Given the description of an element on the screen output the (x, y) to click on. 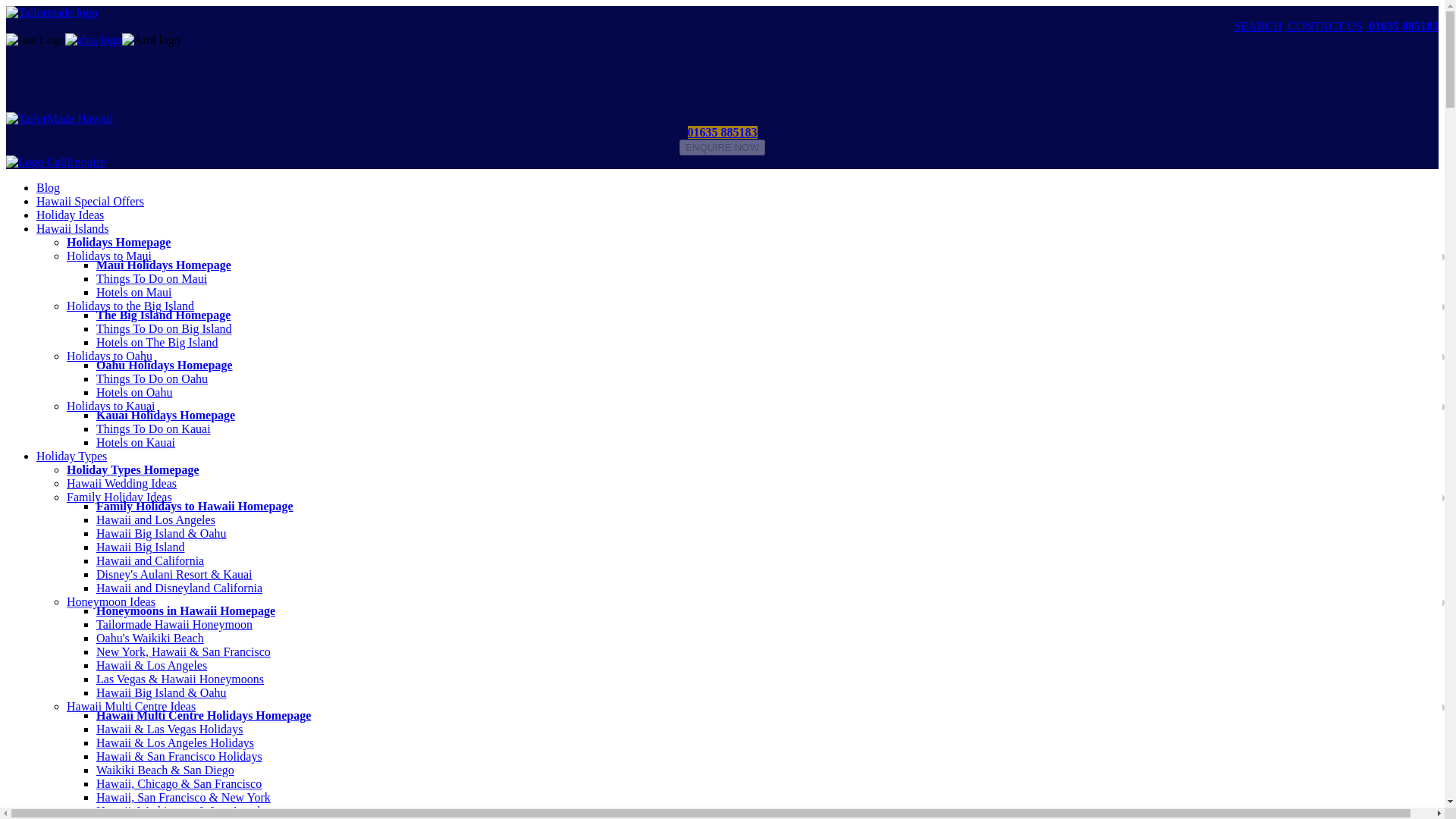
Contact Us (1323, 25)
Make an enquiry (722, 147)
Abta logo (93, 39)
TailorMade Hawaii (59, 119)
CONTACT US (1323, 25)
TailorMade Hawaii (51, 12)
SEARCH (1257, 25)
Atol logo (151, 39)
01635 885183 (1401, 25)
Search (1257, 25)
ENQUIRE NOW (722, 147)
01635 885183 (722, 132)
IATA logo (35, 39)
Abta (93, 39)
